Given the description of an element on the screen output the (x, y) to click on. 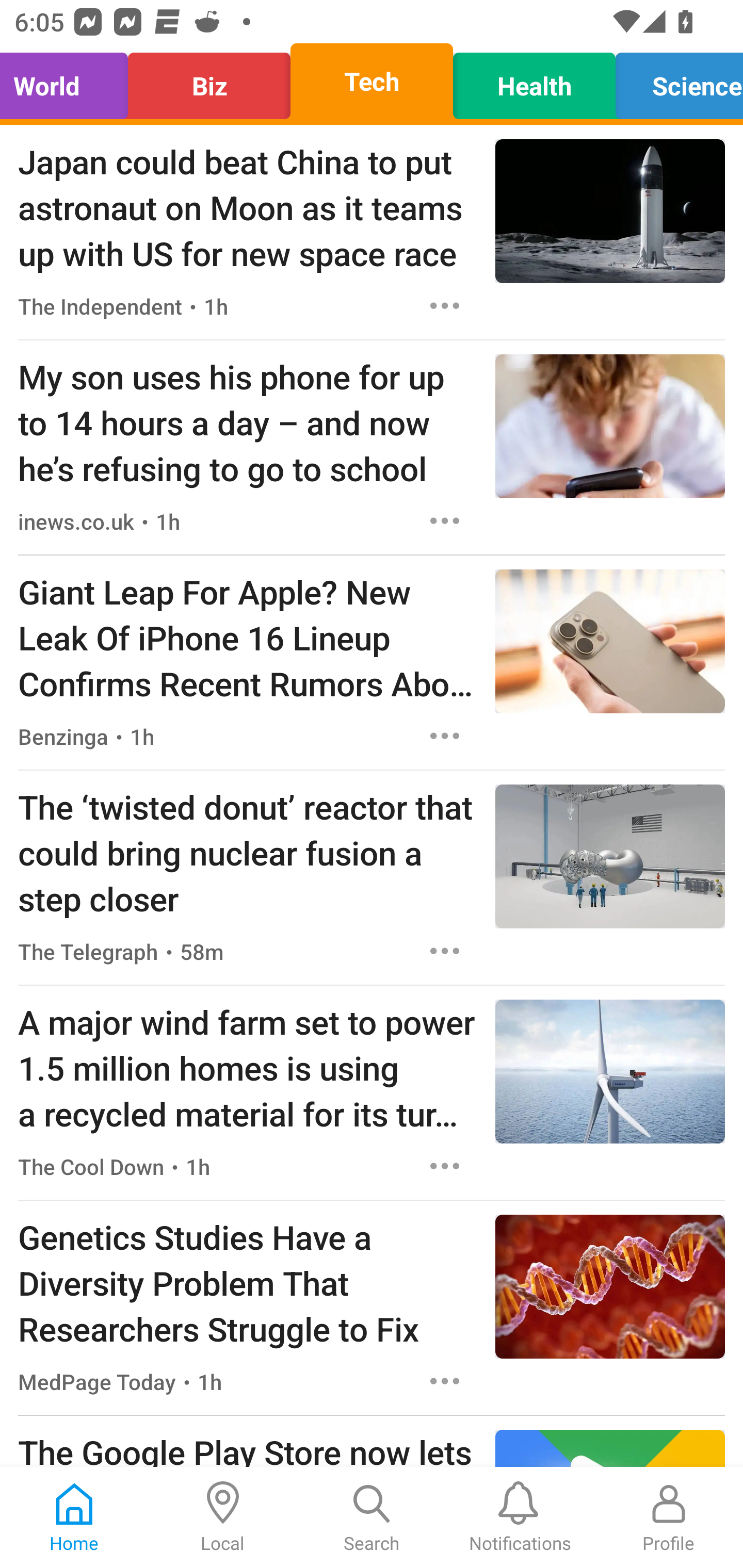
World (69, 81)
Biz (209, 81)
Tech (371, 81)
Health (534, 81)
Science (673, 81)
Options (444, 305)
Options (444, 520)
Options (444, 736)
Options (444, 950)
Options (444, 1166)
Options (444, 1381)
Local (222, 1517)
Search (371, 1517)
Notifications (519, 1517)
Profile (668, 1517)
